Given the description of an element on the screen output the (x, y) to click on. 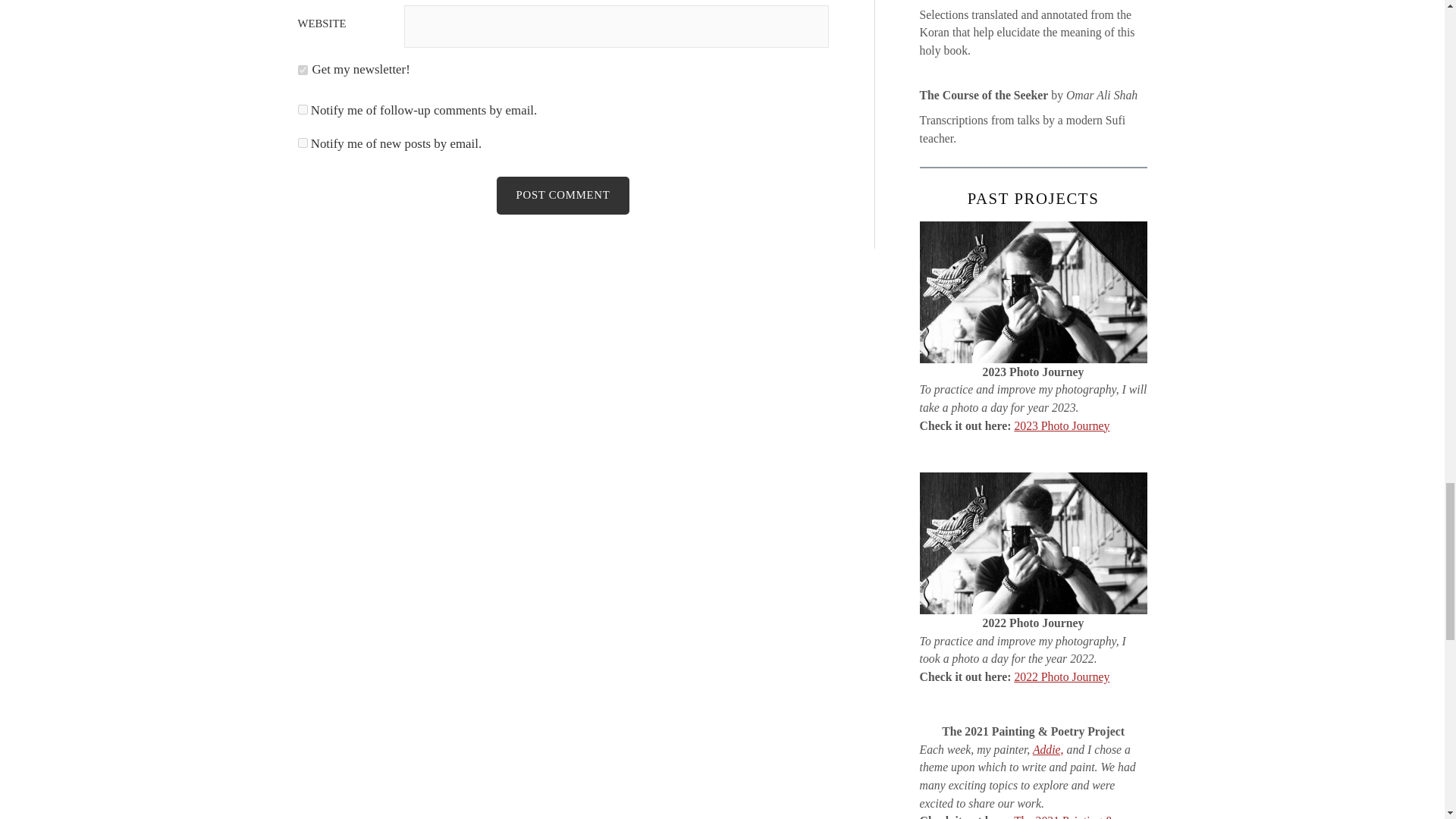
Post Comment (562, 195)
subscribe (302, 143)
Post Comment (562, 195)
1 (302, 70)
subscribe (302, 109)
